Given the description of an element on the screen output the (x, y) to click on. 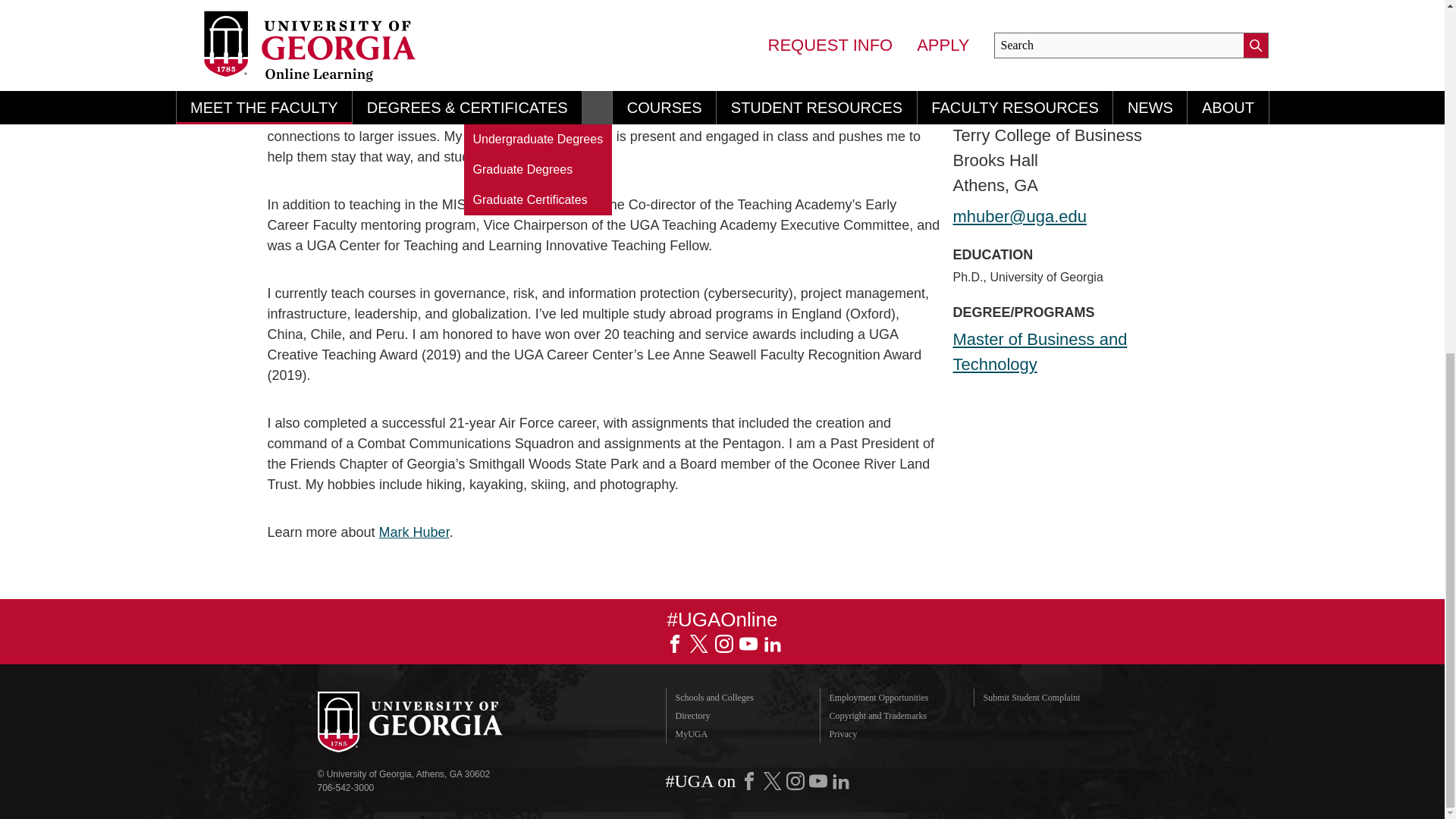
Submit Student Complaint (1050, 697)
Mark Huber (408, 31)
Mark Huber (413, 531)
Privacy (895, 733)
MyUGA (742, 733)
Faculty (336, 31)
Home (282, 31)
Copyright and Trademarks (895, 715)
Schools and Colleges (742, 697)
Master of Business and Technology (1039, 351)
Directory (742, 715)
Employment Opportunities (895, 697)
